Given the description of an element on the screen output the (x, y) to click on. 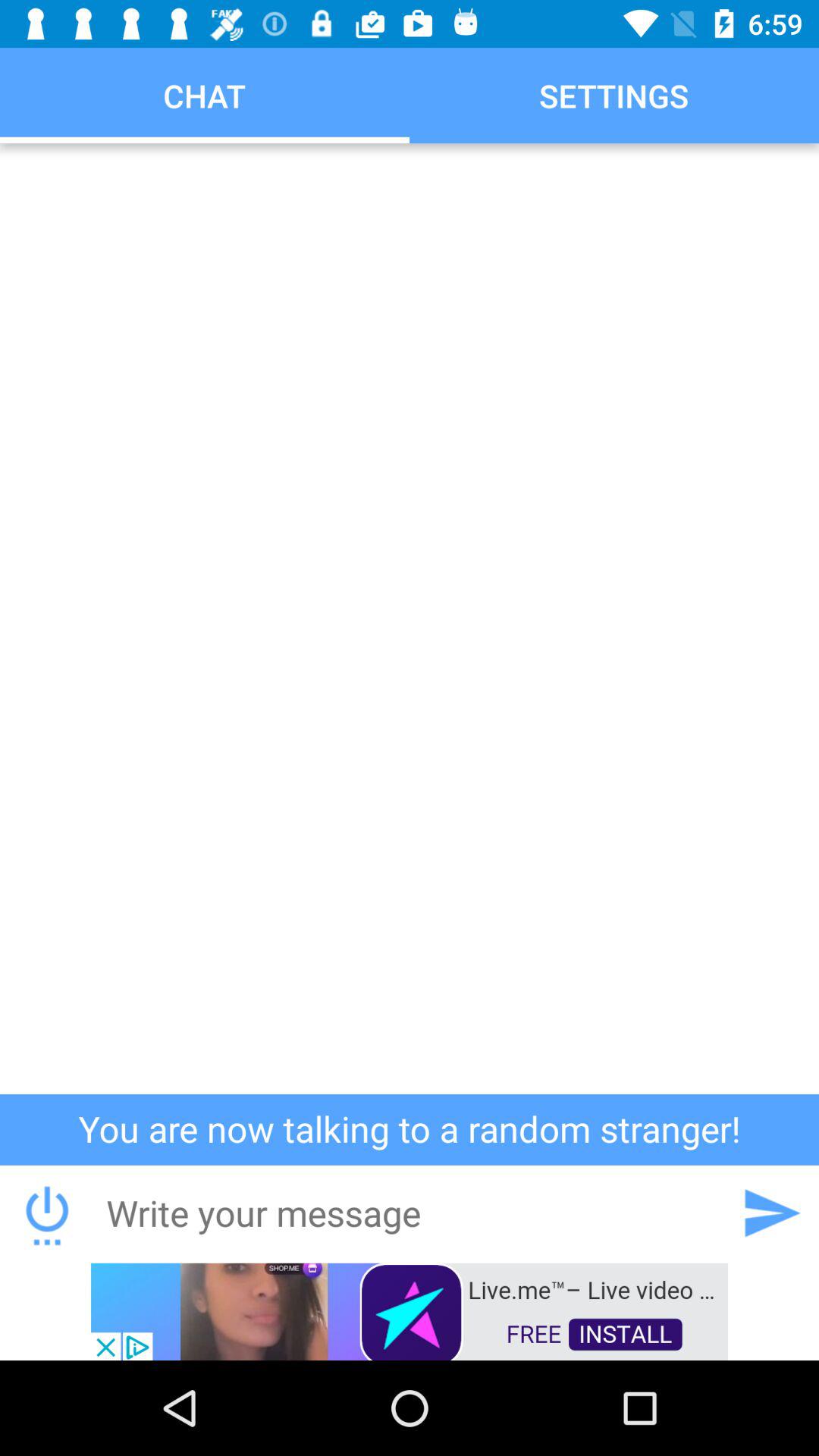
advertisement (409, 1310)
